Given the description of an element on the screen output the (x, y) to click on. 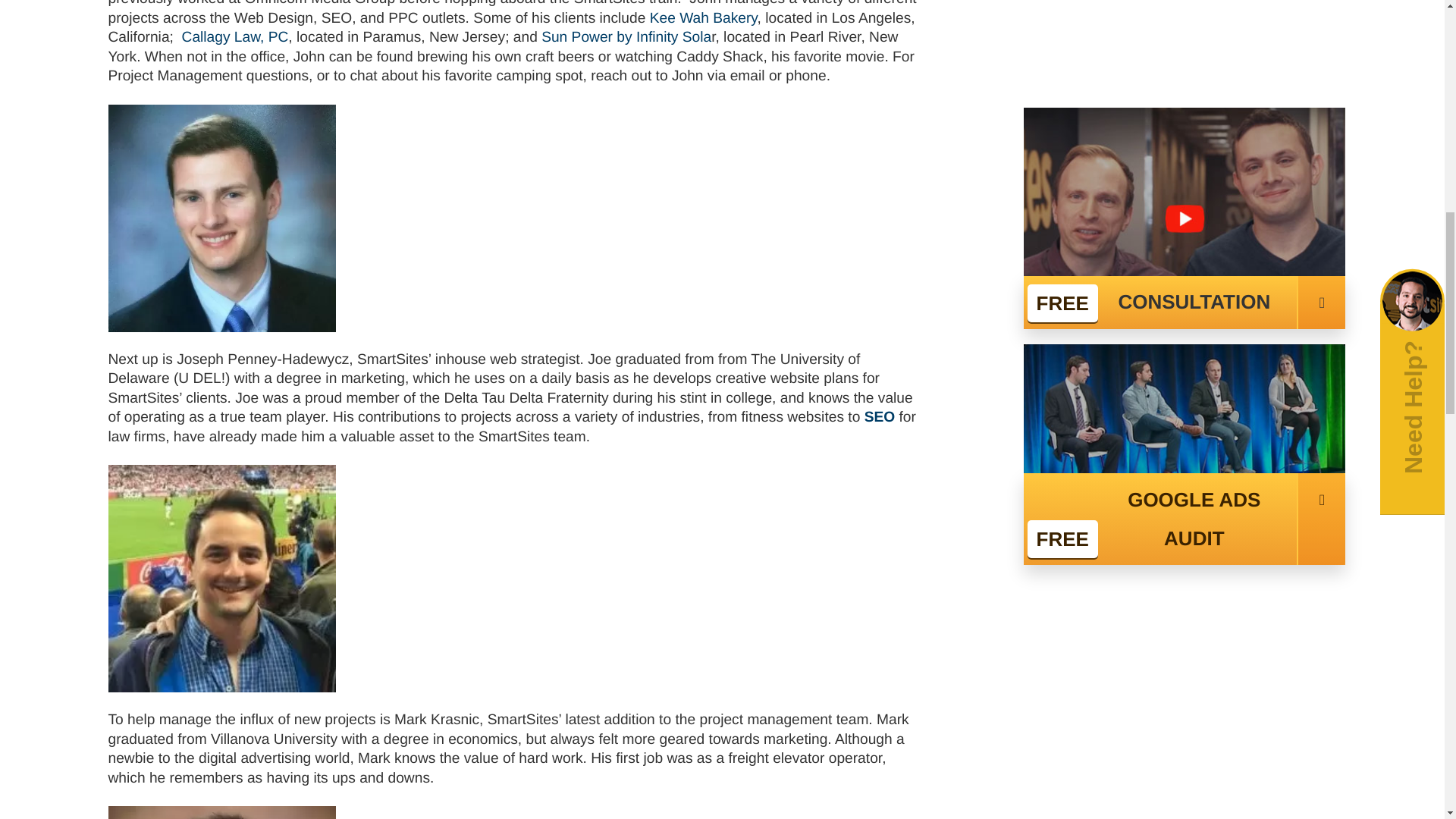
Kee Wah Bakery (703, 18)
SEO (881, 417)
GOOGLE ADS AUDIT (1184, 27)
Callagy Law, PC (235, 37)
Sun Power by Infinity Sola (626, 37)
